Given the description of an element on the screen output the (x, y) to click on. 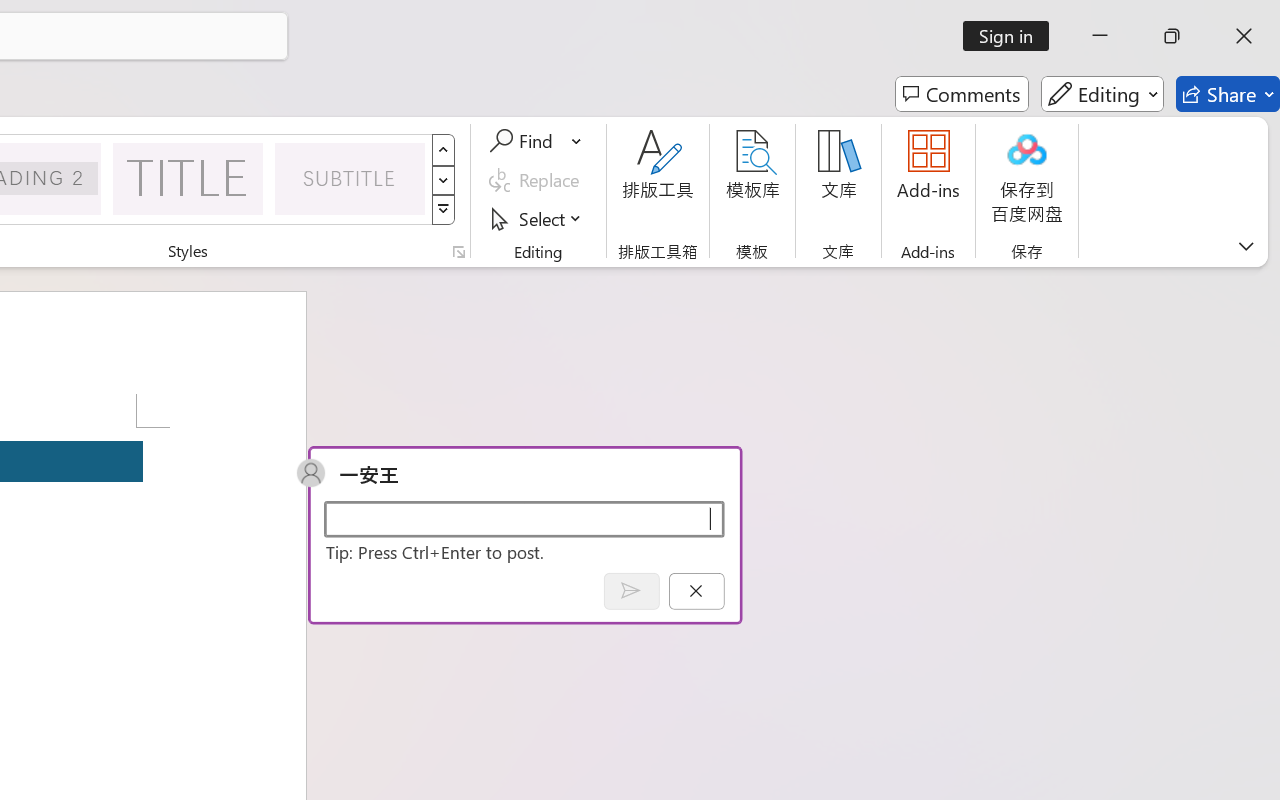
Post comment (Ctrl + Enter) (630, 590)
Editing (1101, 94)
Title (187, 178)
Subtitle (349, 178)
